Given the description of an element on the screen output the (x, y) to click on. 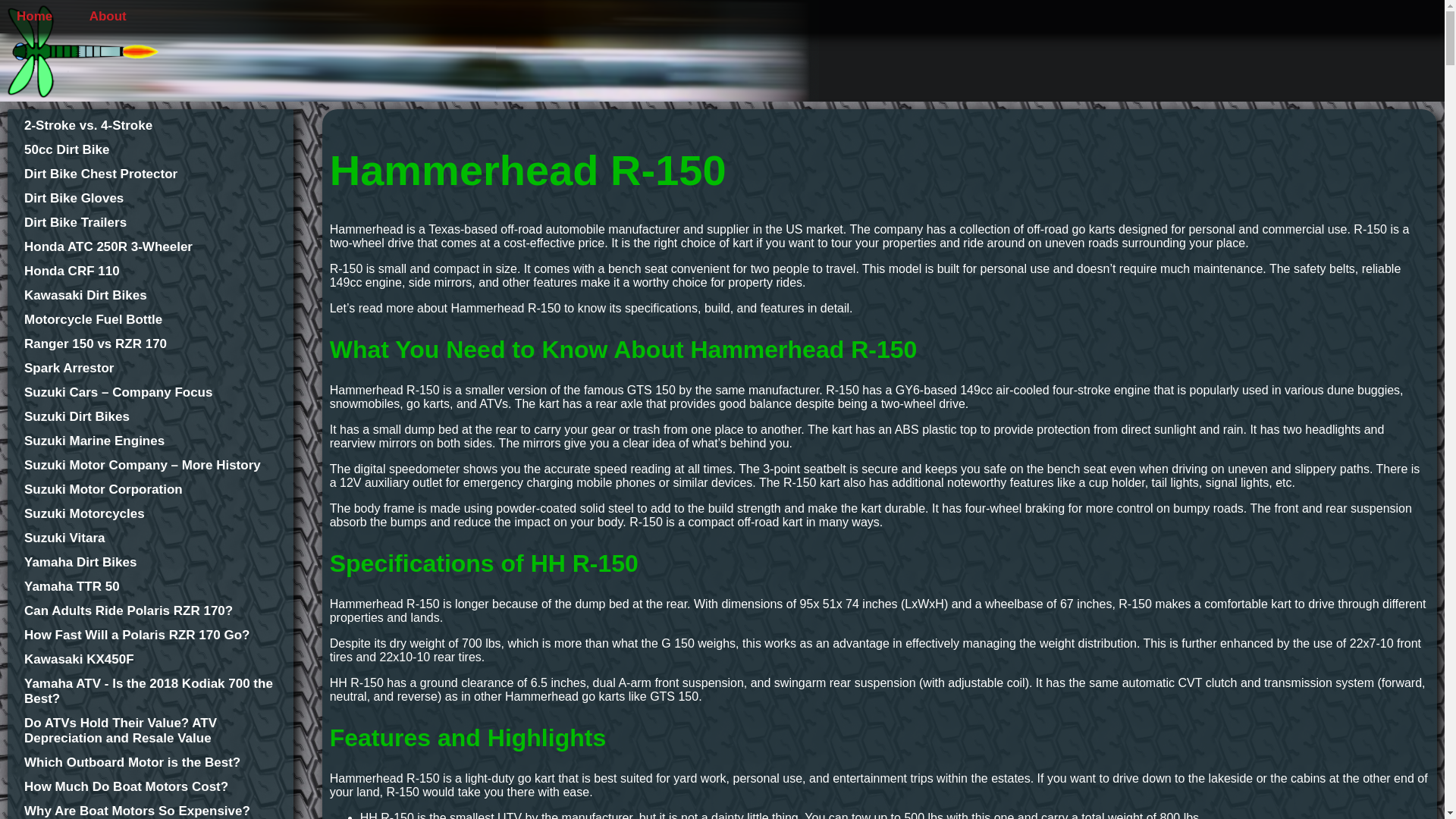
Suzuki Vitara (149, 538)
Suzuki Motor Corporation (149, 489)
How Much Do Boat Motors Cost? (149, 786)
Motorcycle Fuel Bottle (149, 319)
Home (33, 16)
Suzuki Marine Engines (149, 441)
Do ATVs Hold Their Value? ATV Depreciation and Resale Value (149, 730)
Kawasaki KX450F (149, 659)
How Fast Will a Polaris RZR 170 Go? (149, 635)
Can Adults Ride Polaris RZR 170? (149, 611)
